Given the description of an element on the screen output the (x, y) to click on. 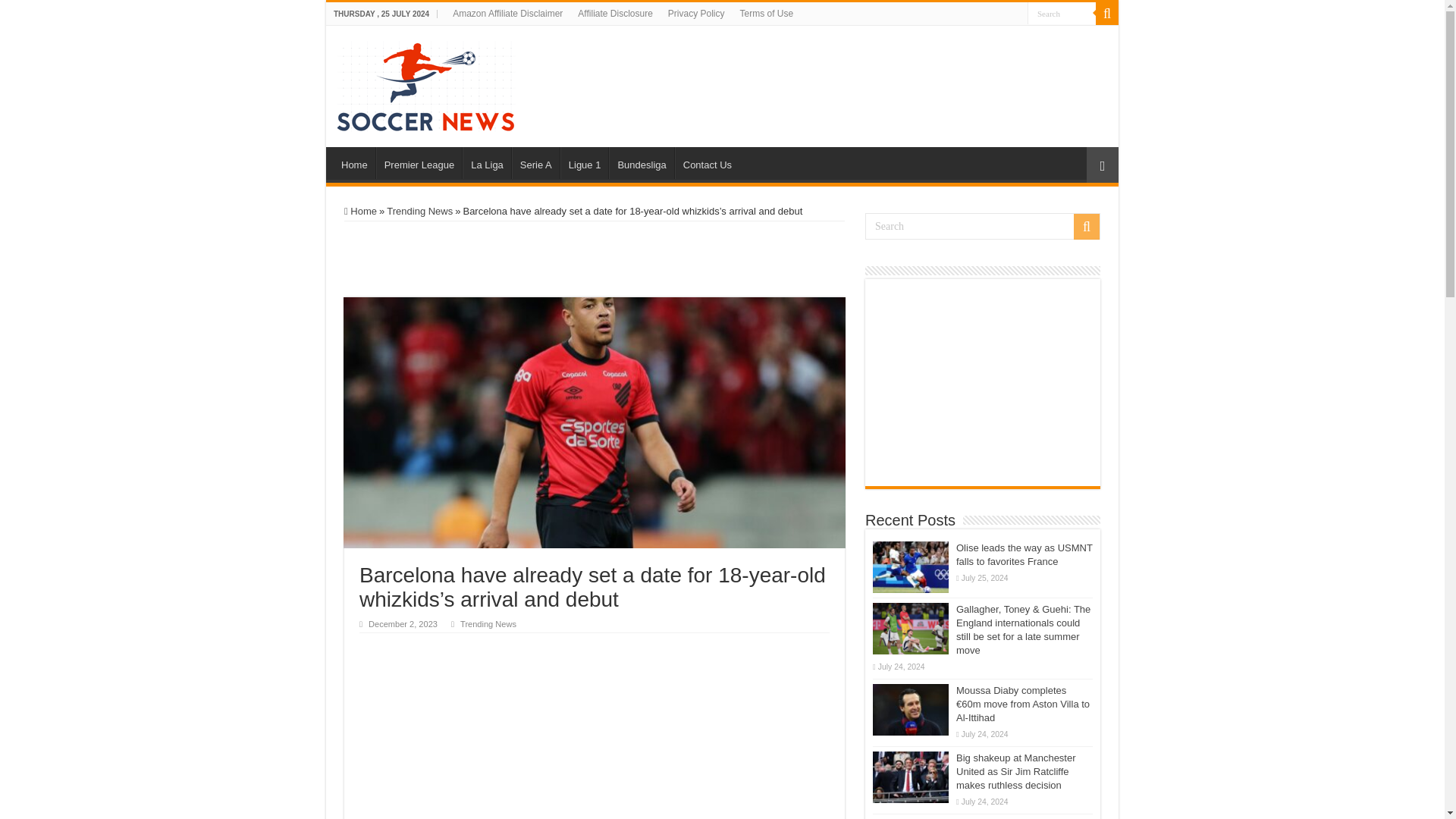
Search (1061, 13)
Premier League (419, 163)
Trending News (419, 211)
Search (1061, 13)
Amazon Affiliate Disclaimer (507, 13)
Home (360, 211)
Search (1107, 13)
Ligue 1 (584, 163)
Bundesliga (640, 163)
Trending News (488, 623)
Advertisement (635, 763)
Advertisement (929, 63)
Search (1061, 13)
Affiliate Disclosure (614, 13)
Privacy Policy (696, 13)
